Given the description of an element on the screen output the (x, y) to click on. 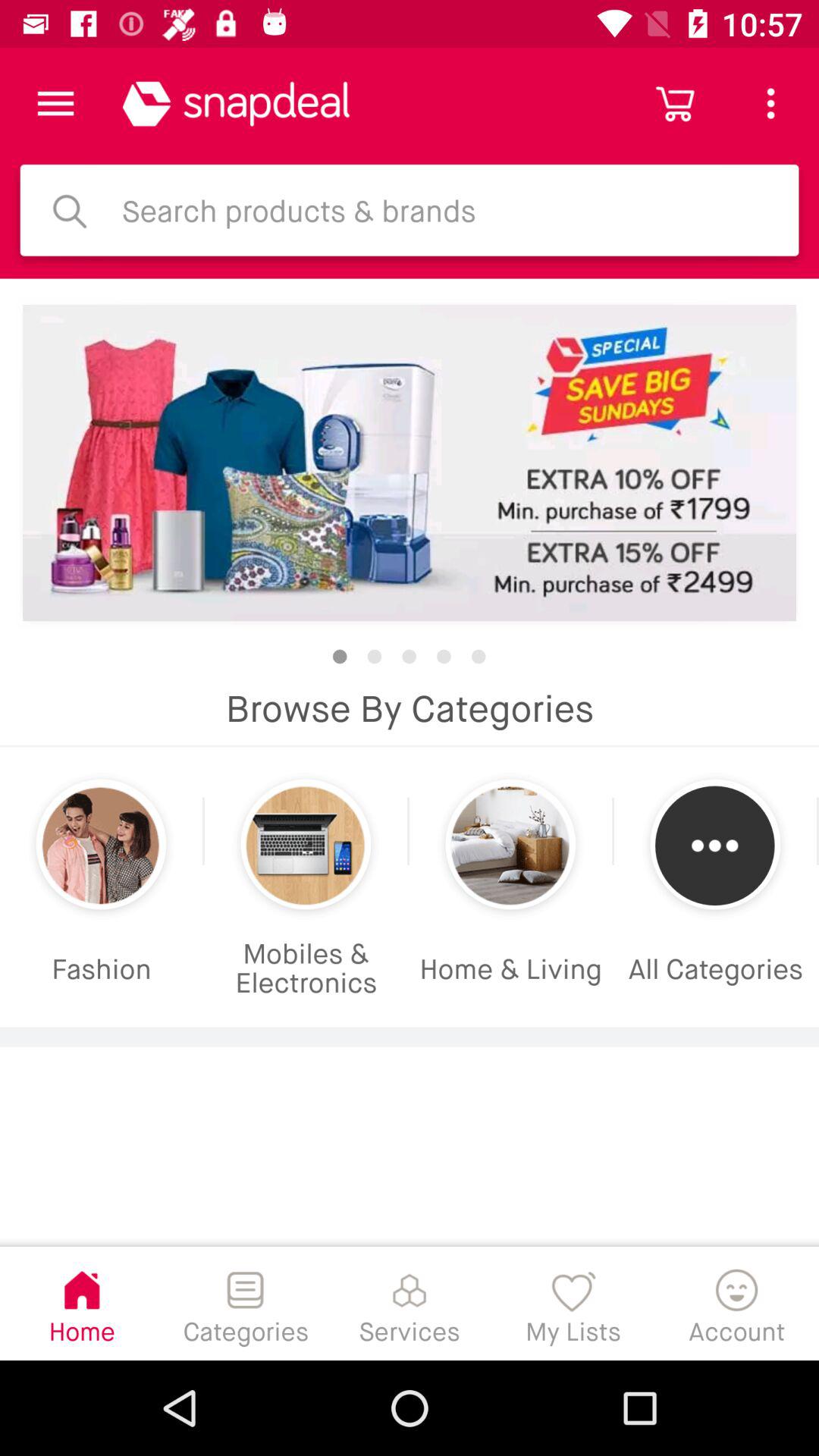
tap icon next to account (573, 1303)
